Given the description of an element on the screen output the (x, y) to click on. 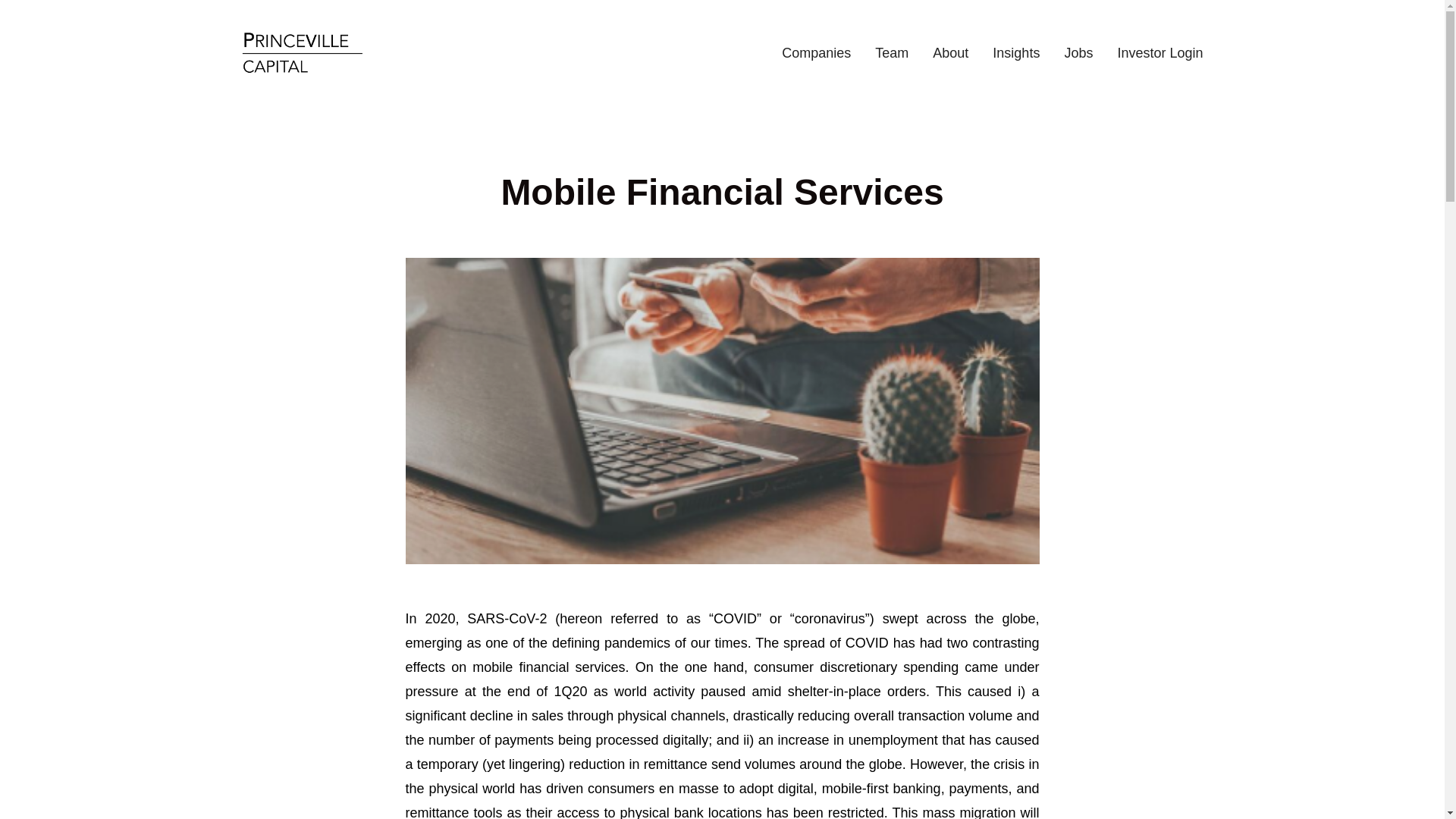
About (950, 52)
Investor Login (1159, 52)
Insights (1015, 52)
Team (891, 52)
Jobs (1078, 52)
Companies (815, 52)
